Given the description of an element on the screen output the (x, y) to click on. 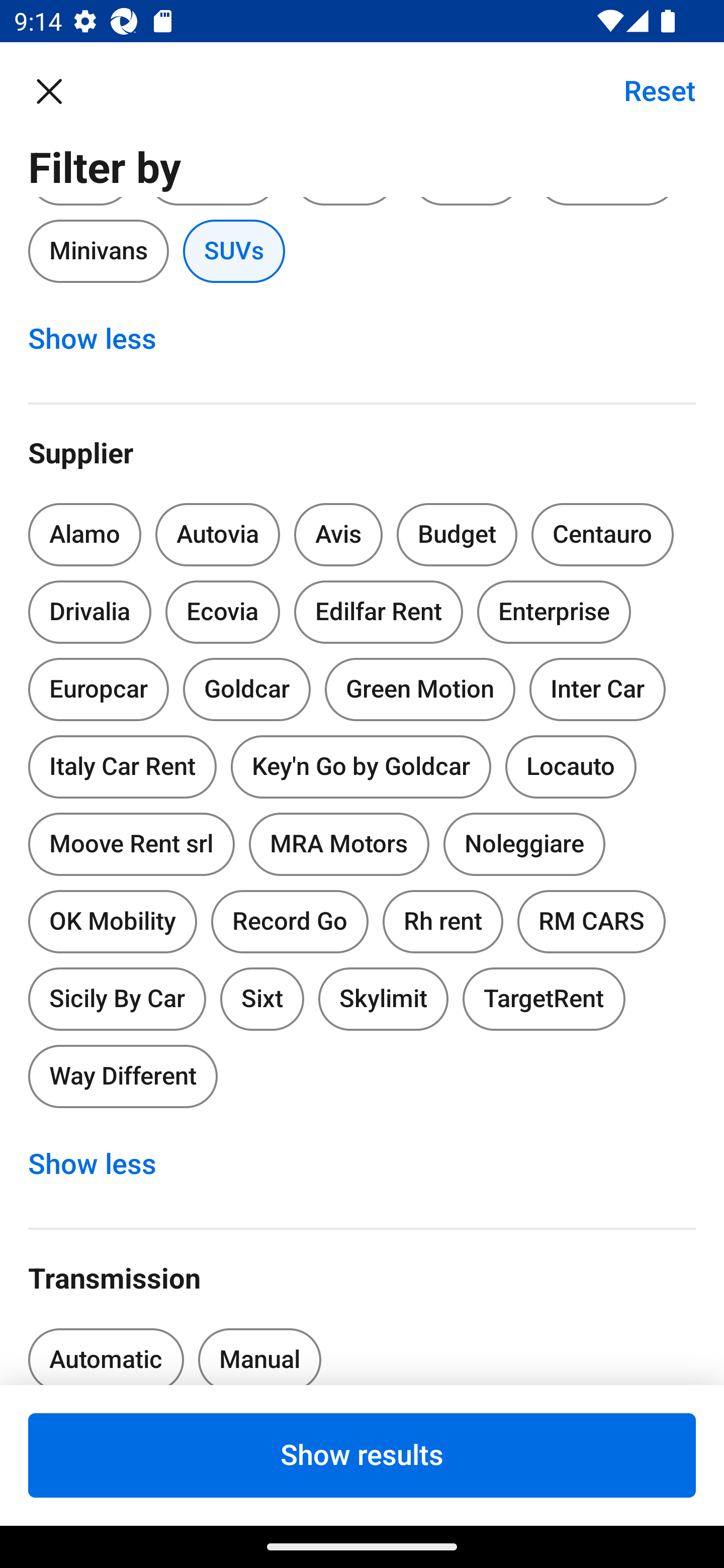
Close (59, 90)
Reset (649, 90)
Minivans (98, 250)
Show less (102, 338)
Alamo (84, 534)
Autovia (217, 534)
Avis (338, 534)
Budget (456, 534)
Centauro (602, 534)
Drivalia (89, 611)
Ecovia (222, 611)
Edilfar Rent (377, 611)
Enterprise (553, 611)
Europcar (98, 685)
Goldcar (246, 689)
Green Motion (420, 689)
Inter Car (597, 689)
Italy Car Rent (122, 763)
Key'n Go by Goldcar (360, 766)
Locauto (570, 766)
Moove Rent srl (131, 843)
MRA Motors (339, 843)
Noleggiare (524, 843)
OK Mobility (112, 917)
Record Go (289, 921)
Rh rent (442, 921)
RM CARS (591, 921)
Sicily By Car (117, 995)
Sixt (262, 998)
Skylimit (383, 998)
TargetRent (543, 998)
Way Different (122, 1075)
Show less (102, 1164)
Automatic (105, 1350)
Manual (259, 1350)
Show results (361, 1454)
